Given the description of an element on the screen output the (x, y) to click on. 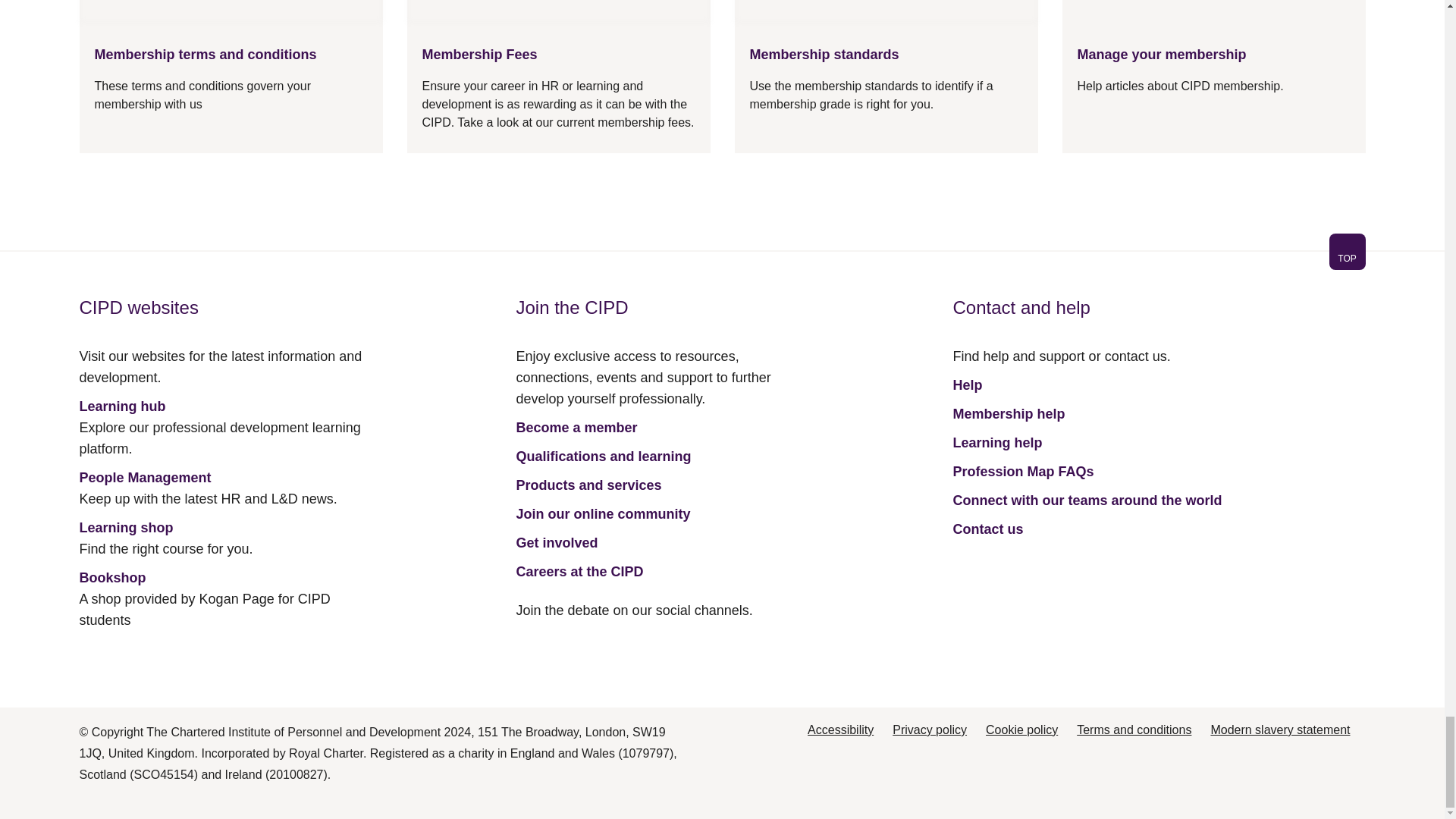
TOP (1346, 258)
TOP (721, 260)
TOP (1346, 251)
